Given the description of an element on the screen output the (x, y) to click on. 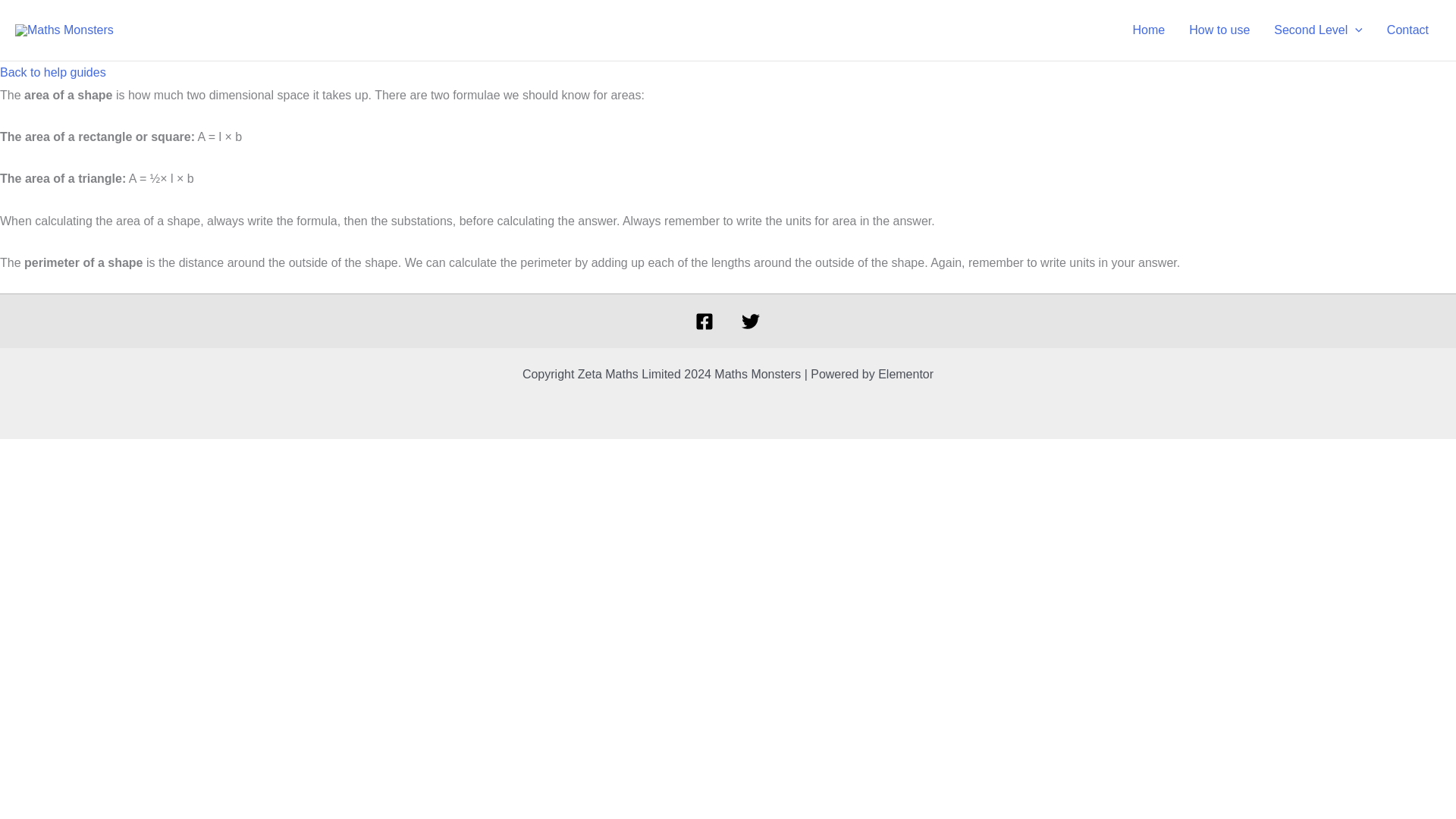
Back to help guides (53, 72)
Contact (1407, 30)
How to use (1219, 30)
Second Level (1318, 30)
Home (1149, 30)
